Given the description of an element on the screen output the (x, y) to click on. 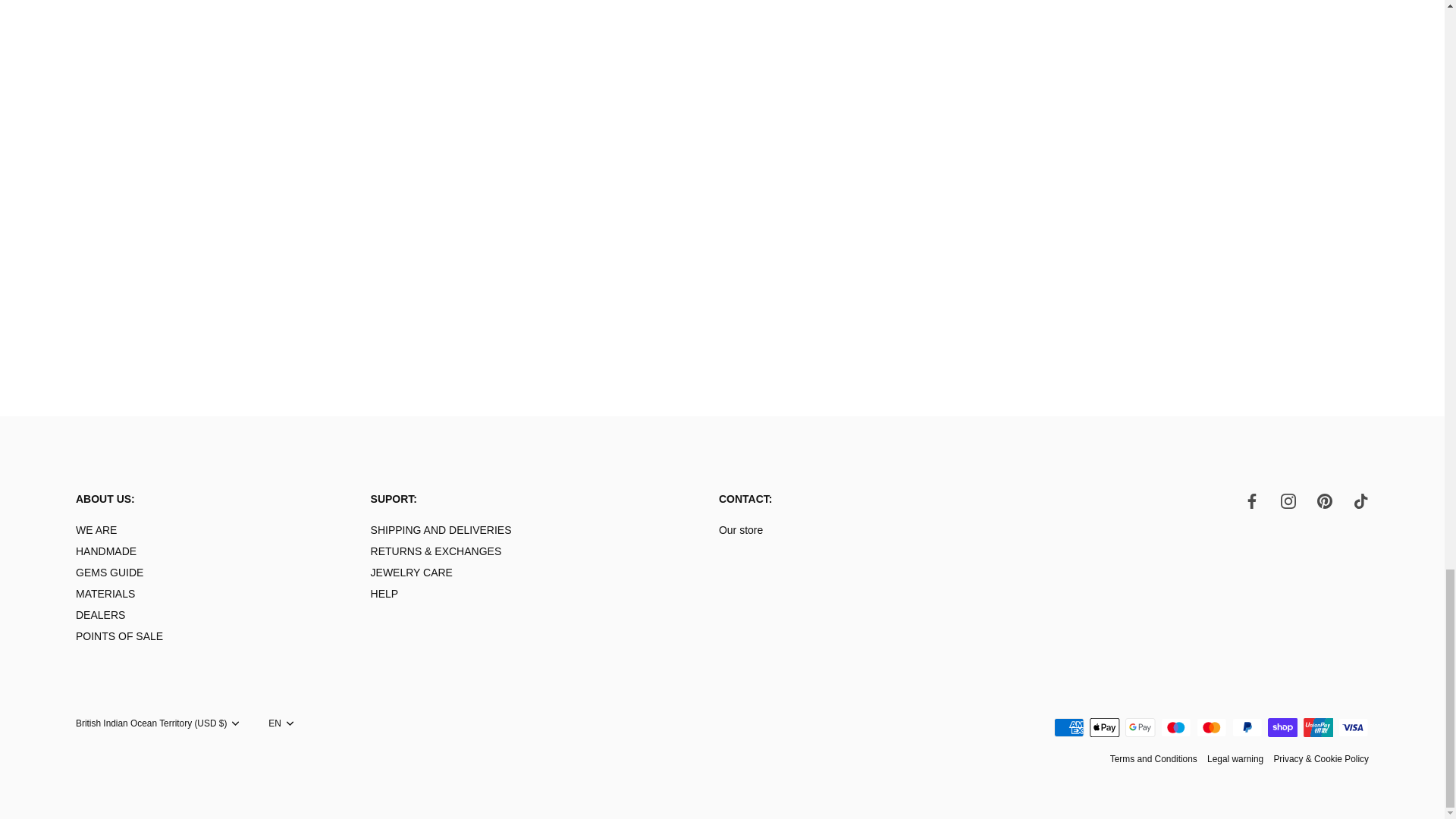
Visa (1353, 727)
Mastercard (1210, 727)
Union Pay (1318, 727)
Pinterest (1324, 500)
Apple Pay (1104, 727)
Maestro (1175, 727)
Google Pay (1140, 727)
Shop Pay (1282, 727)
PayPal (1246, 727)
American Express (1069, 727)
